Given the description of an element on the screen output the (x, y) to click on. 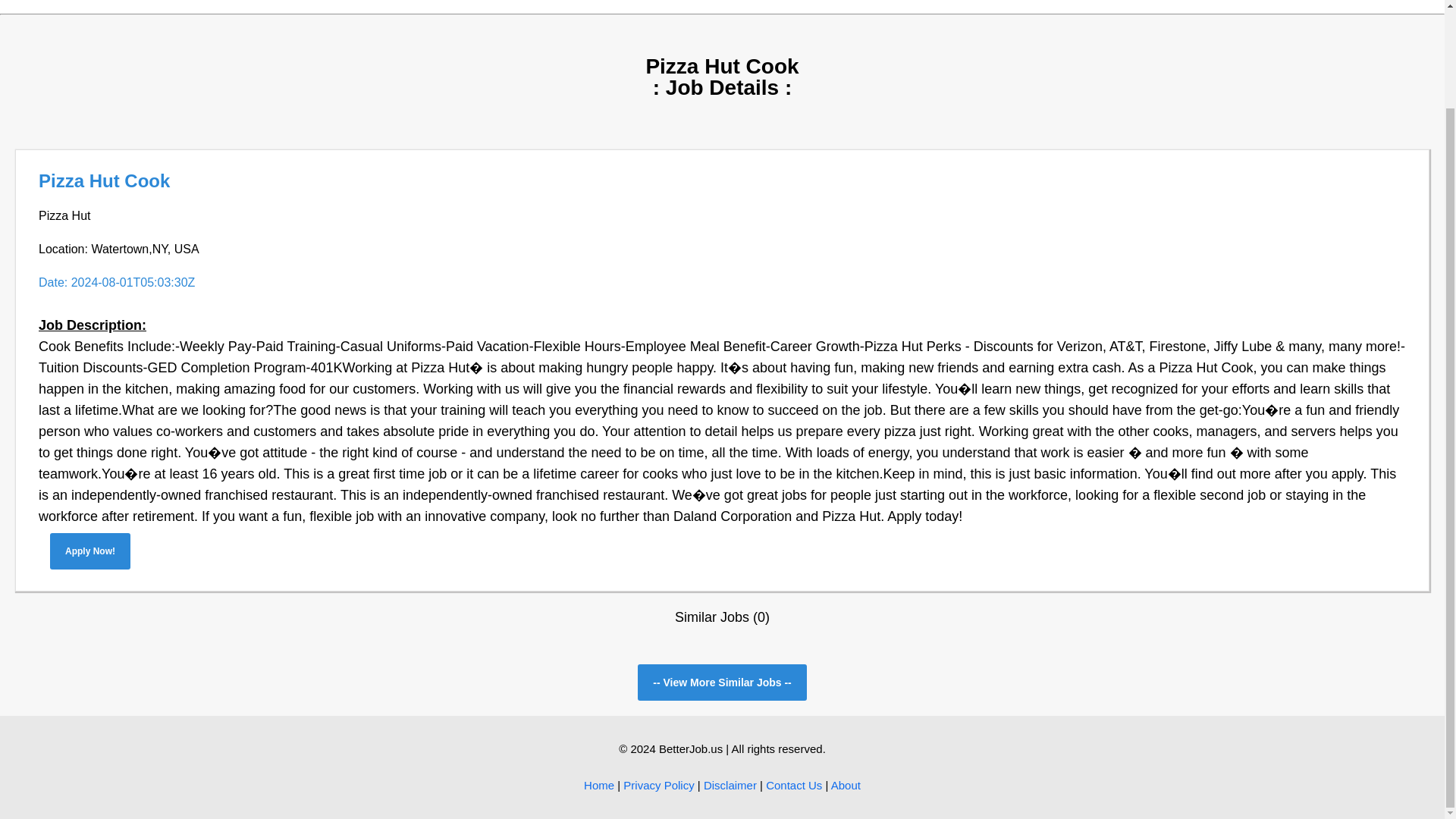
Privacy Policy (658, 784)
-- View More Similar Jobs -- (721, 682)
Pizza Hut Cook (104, 180)
Apply Now! (90, 551)
Contact Us (793, 784)
Disclaimer (730, 784)
About (845, 784)
Home (598, 784)
